Given the description of an element on the screen output the (x, y) to click on. 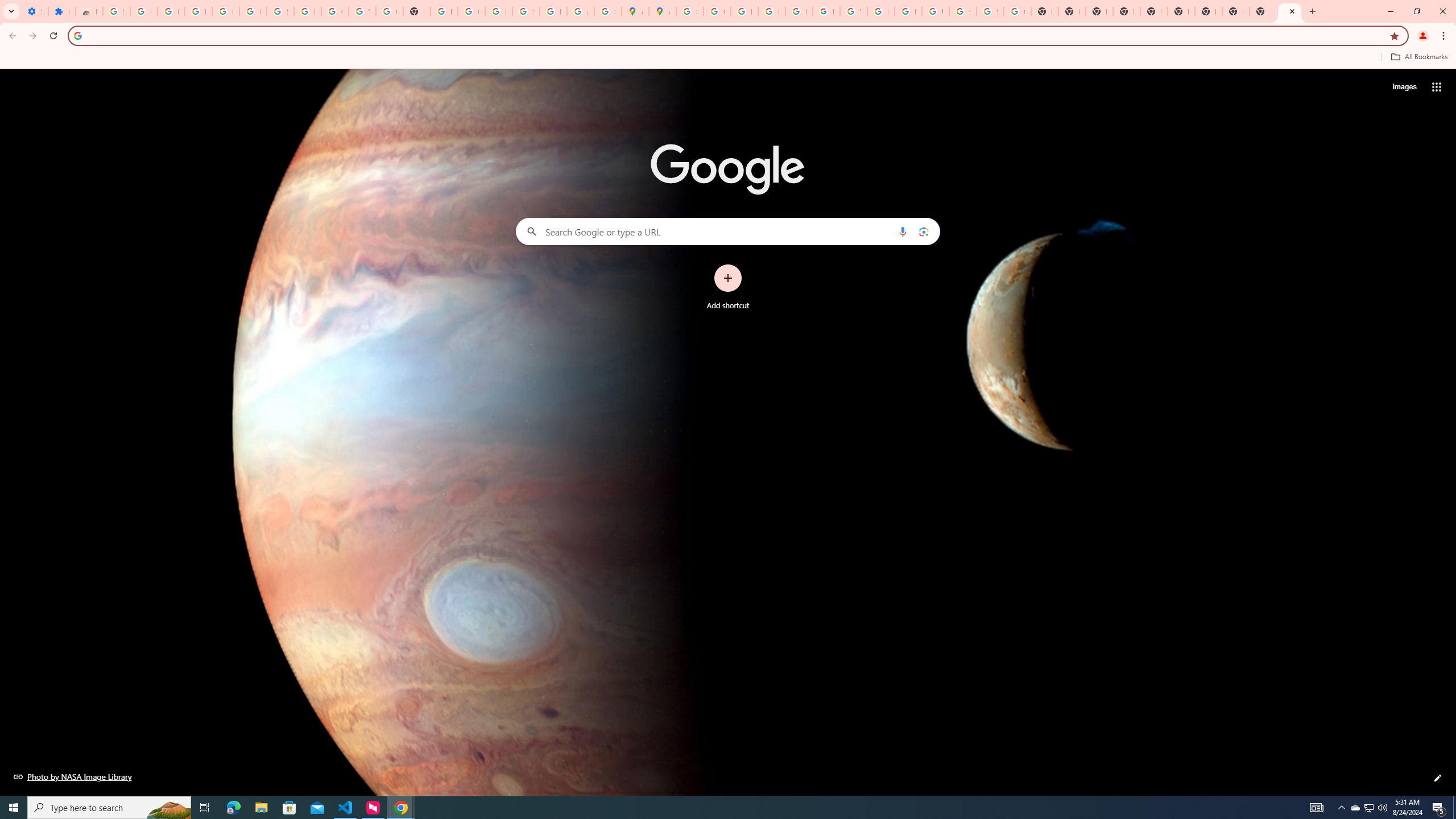
Sign in - Google Accounts (116, 11)
Safety in Our Products - Google Safety Center (607, 11)
